Given the description of an element on the screen output the (x, y) to click on. 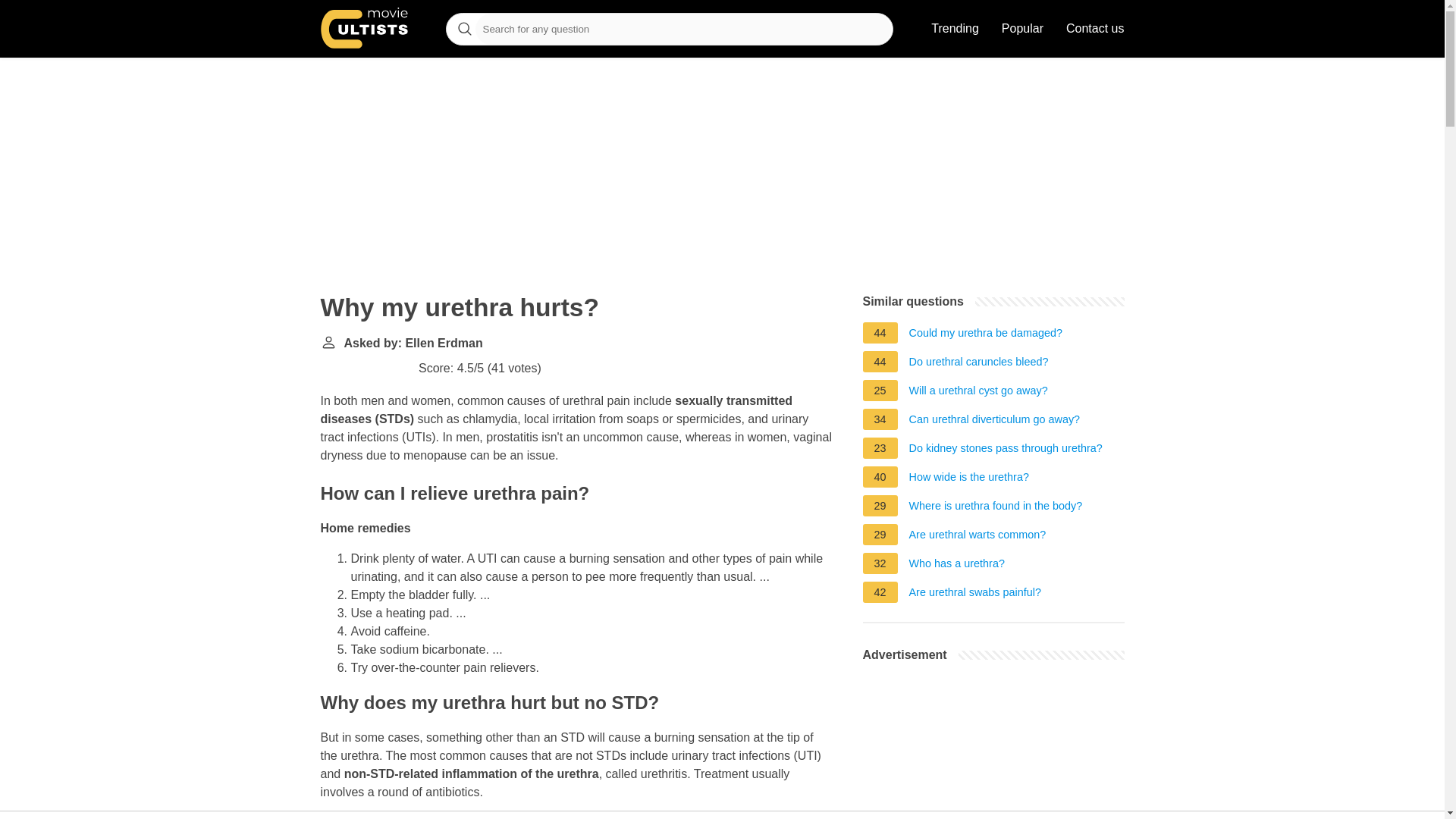
Are urethral swabs painful? (974, 594)
Who has a urethra? (956, 565)
Popular (1022, 28)
Trending (954, 28)
Do kidney stones pass through urethra? (1005, 450)
Do urethral caruncles bleed? (978, 363)
Contact us (1094, 28)
Are urethral warts common? (977, 536)
How wide is the urethra? (968, 478)
Where is urethra found in the body? (995, 507)
